Given the description of an element on the screen output the (x, y) to click on. 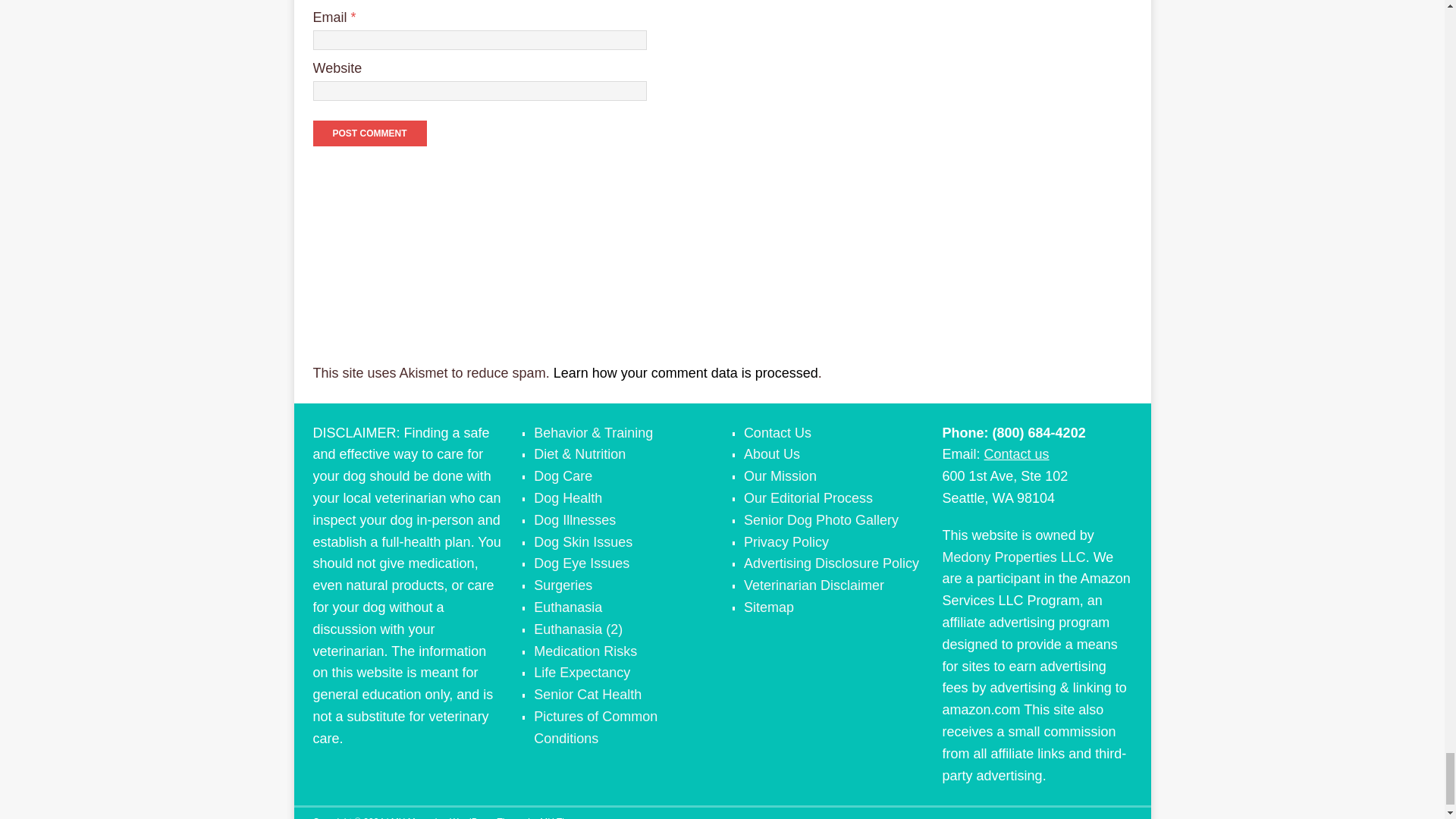
Post Comment (369, 133)
